Given the description of an element on the screen output the (x, y) to click on. 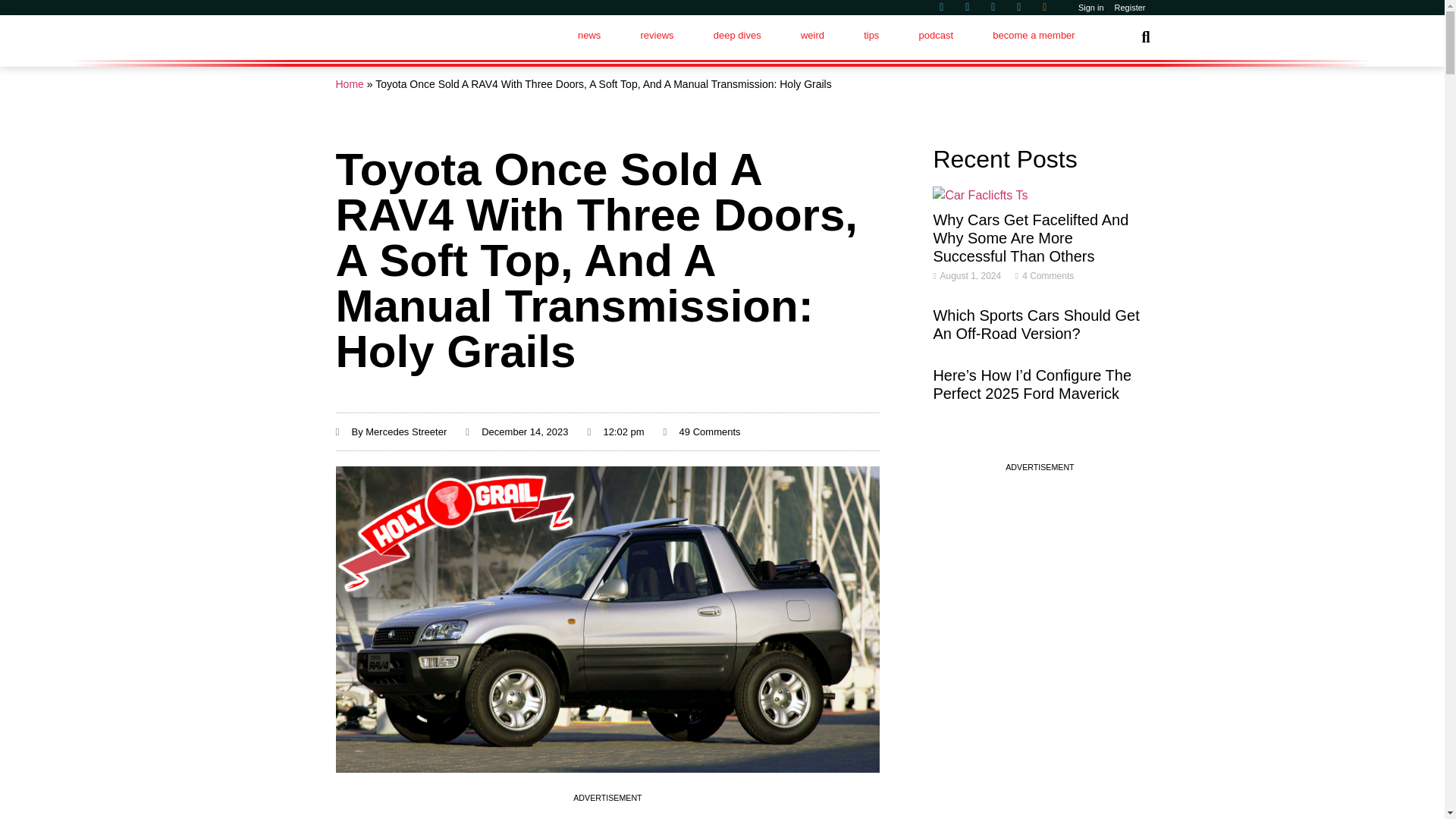
By Mercedes Streeter (390, 432)
Register (1130, 7)
podcast (935, 35)
49 Comments (702, 432)
deep dives (737, 35)
reviews (656, 35)
Sign in (1091, 7)
tips (871, 35)
become a member (1033, 35)
Home (348, 83)
weird (812, 35)
news (589, 35)
December 14, 2023 (516, 432)
